Given the description of an element on the screen output the (x, y) to click on. 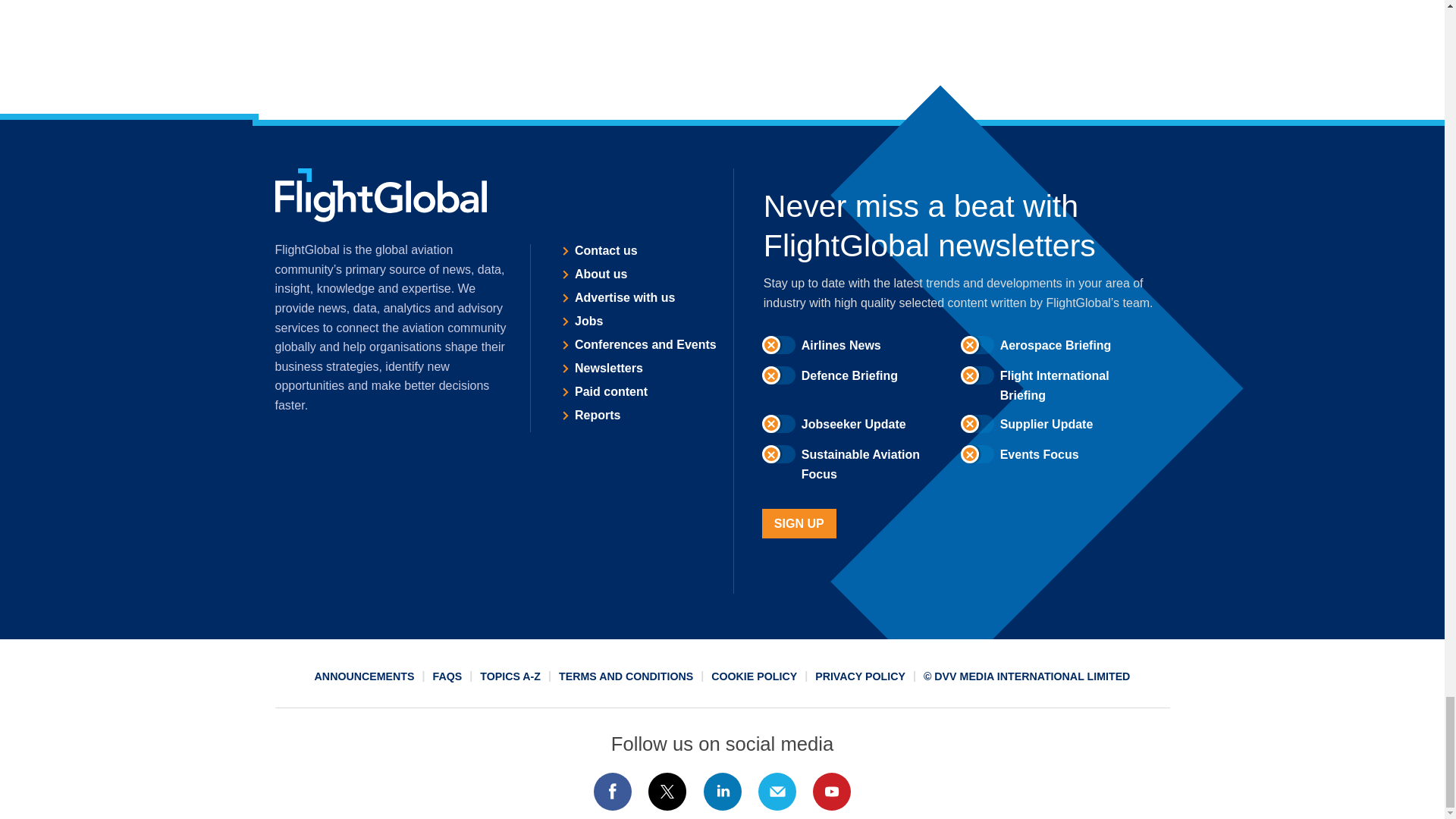
Connect with us on Twitter (667, 791)
Connect with us on Youtube (831, 791)
Email us (776, 791)
Connect with us on Linked In (721, 791)
Connect with us on Facebook (611, 791)
